Given the description of an element on the screen output the (x, y) to click on. 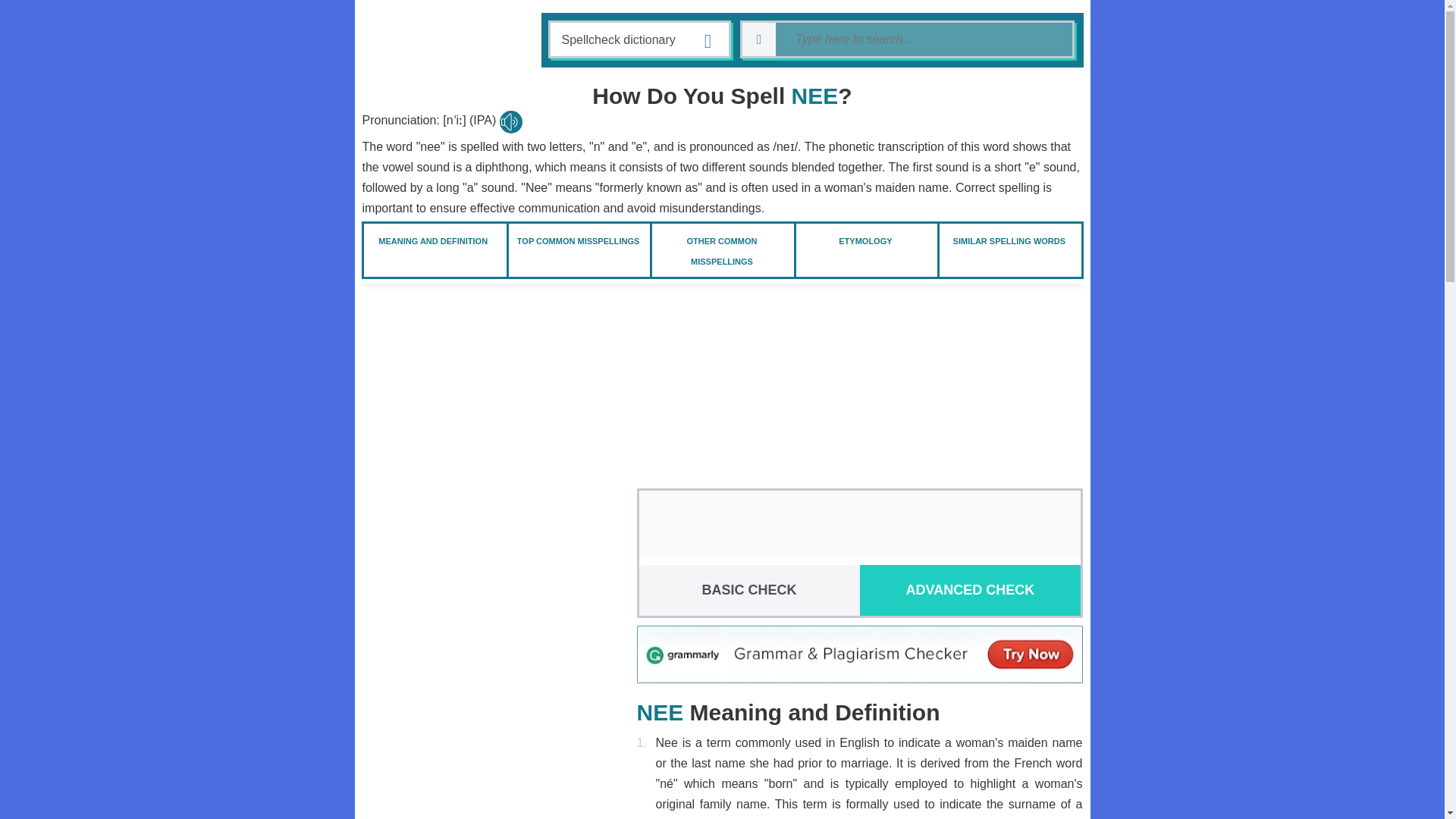
OTHER COMMON MISSPELLINGS (722, 249)
MEANING AND DEFINITION (432, 239)
TOP COMMON MISSPELLINGS (578, 239)
ADVANCED CHECK (970, 590)
ETYMOLOGY (864, 239)
SpellChecker.net (426, 41)
MEANING AND DEFINITION (432, 239)
BASIC CHECK (749, 590)
ETYMOLOGY (864, 239)
TOP COMMON MISSPELLINGS (578, 239)
